Given the description of an element on the screen output the (x, y) to click on. 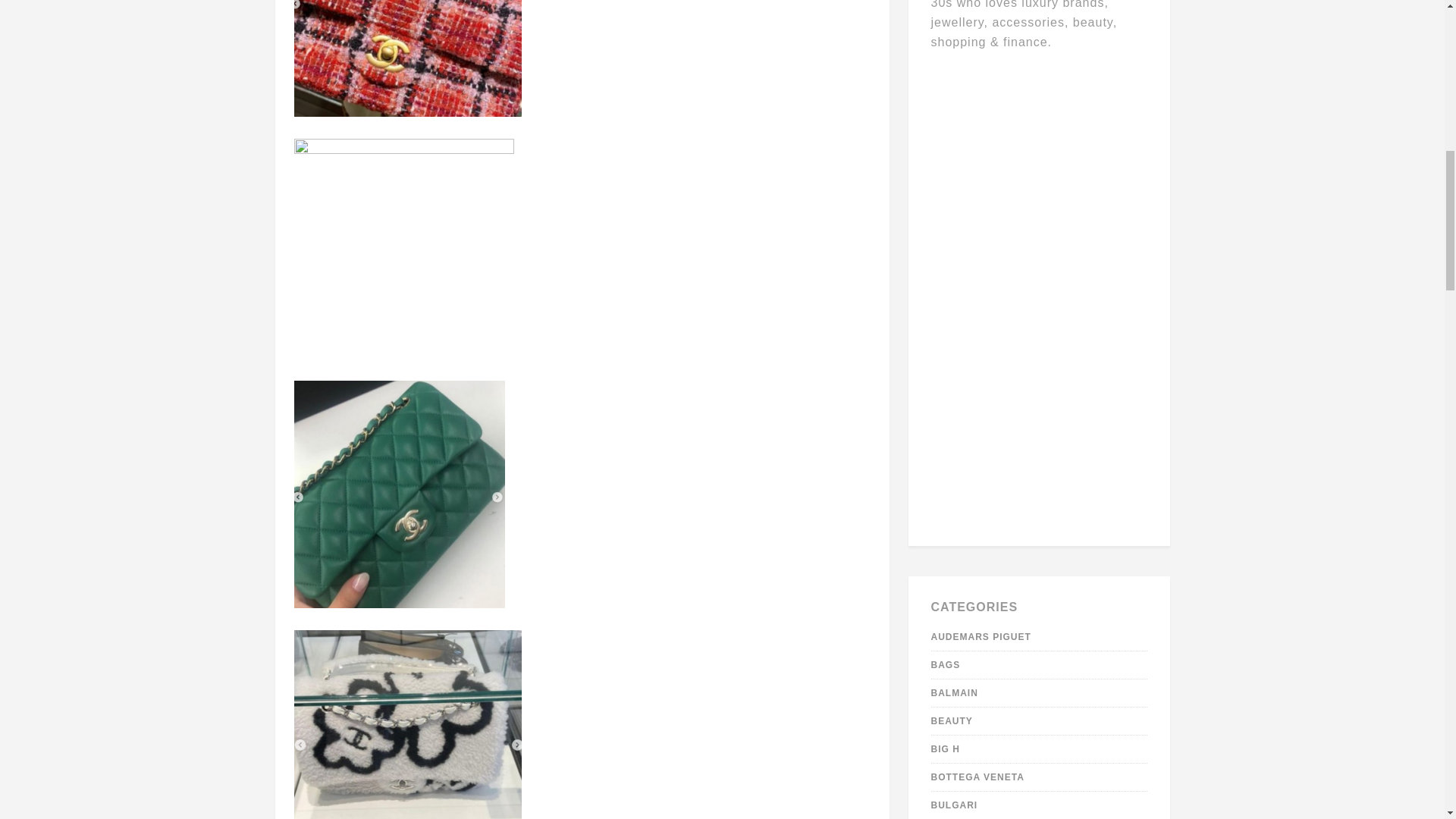
AUDEMARS PIGUET (980, 636)
BALMAIN (954, 692)
Advertisement (1040, 289)
BAGS (945, 665)
